Given the description of an element on the screen output the (x, y) to click on. 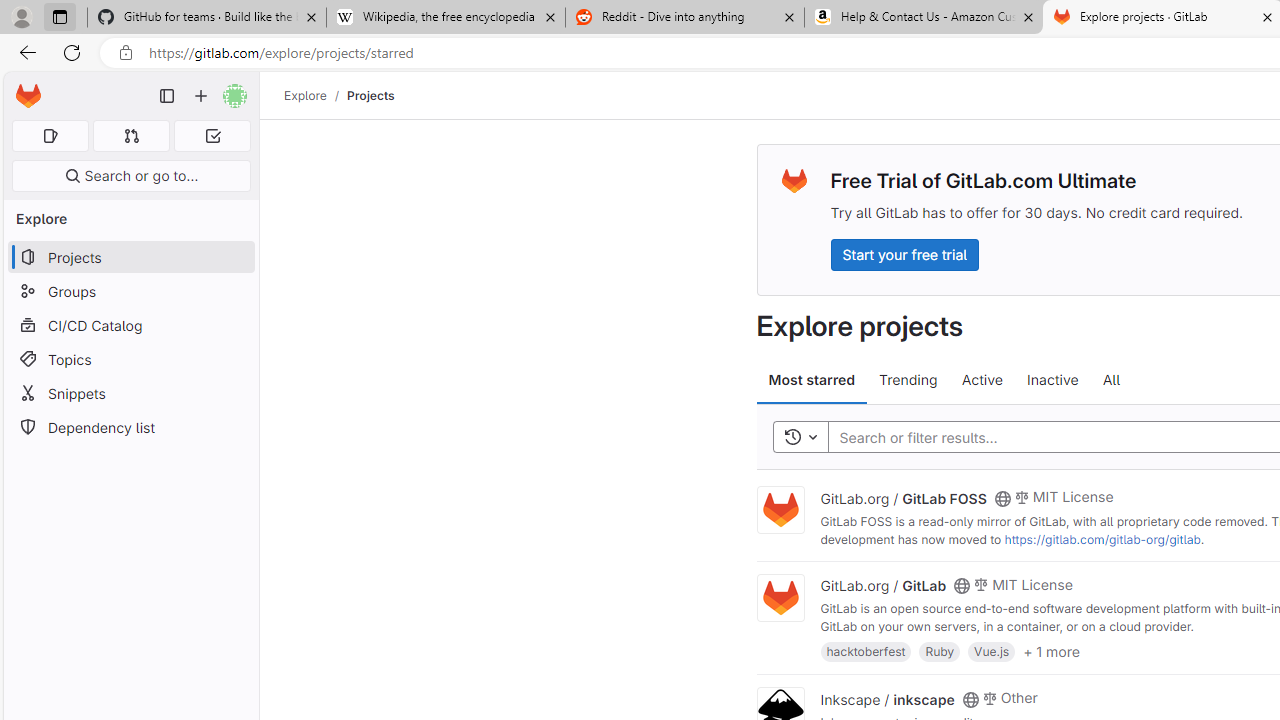
Groups (130, 291)
Ruby (940, 650)
GitLab.org / GitLab (883, 585)
Topics (130, 358)
+ 1 more (1051, 650)
Groups (130, 291)
All (1111, 379)
Projects (370, 95)
Dependency list (130, 427)
Projects (370, 95)
Inactive (1052, 379)
Snippets (130, 393)
